Given the description of an element on the screen output the (x, y) to click on. 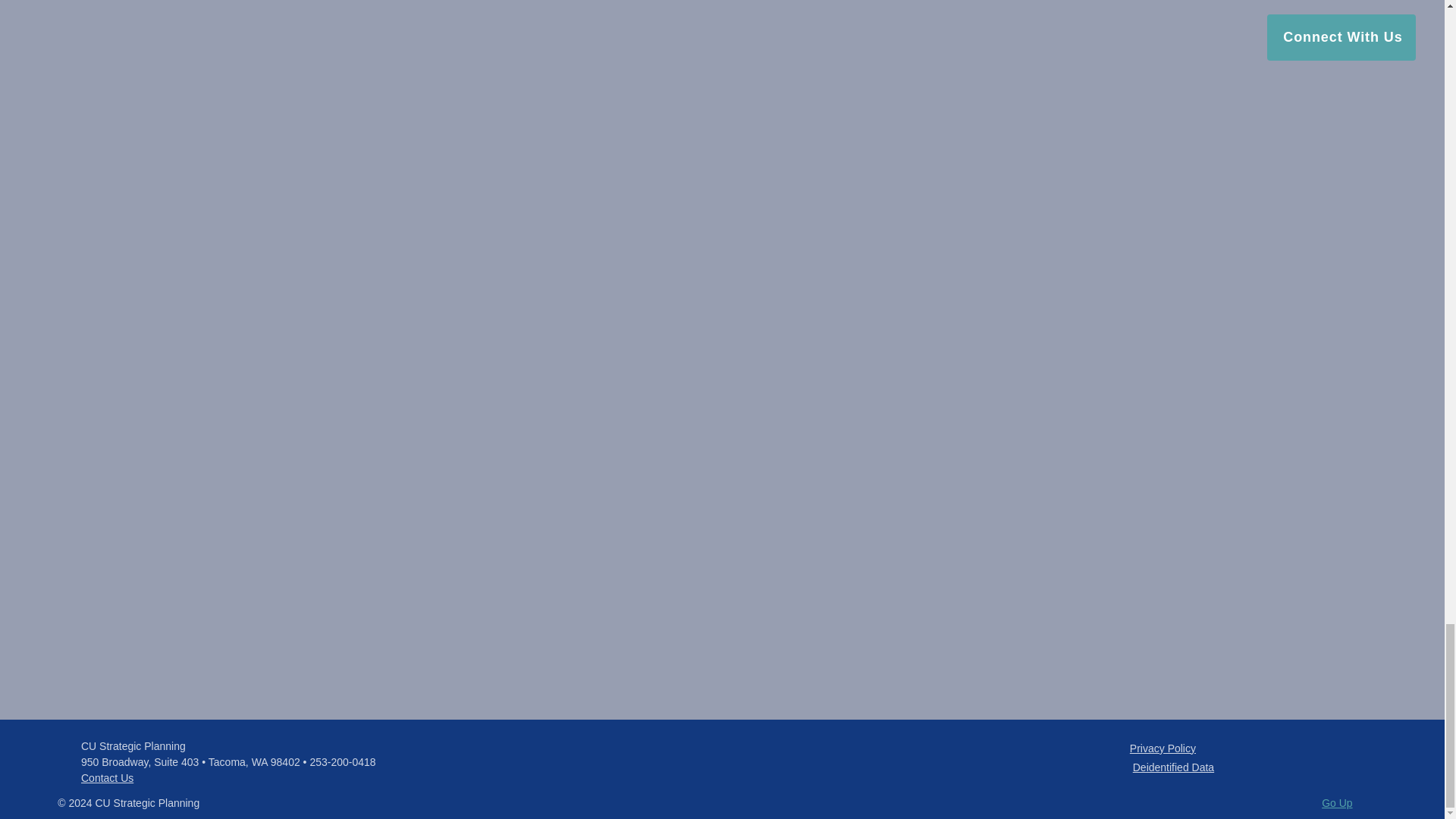
Contact Us (107, 777)
Go Up (1337, 802)
Privacy Policy (1162, 748)
